Given the description of an element on the screen output the (x, y) to click on. 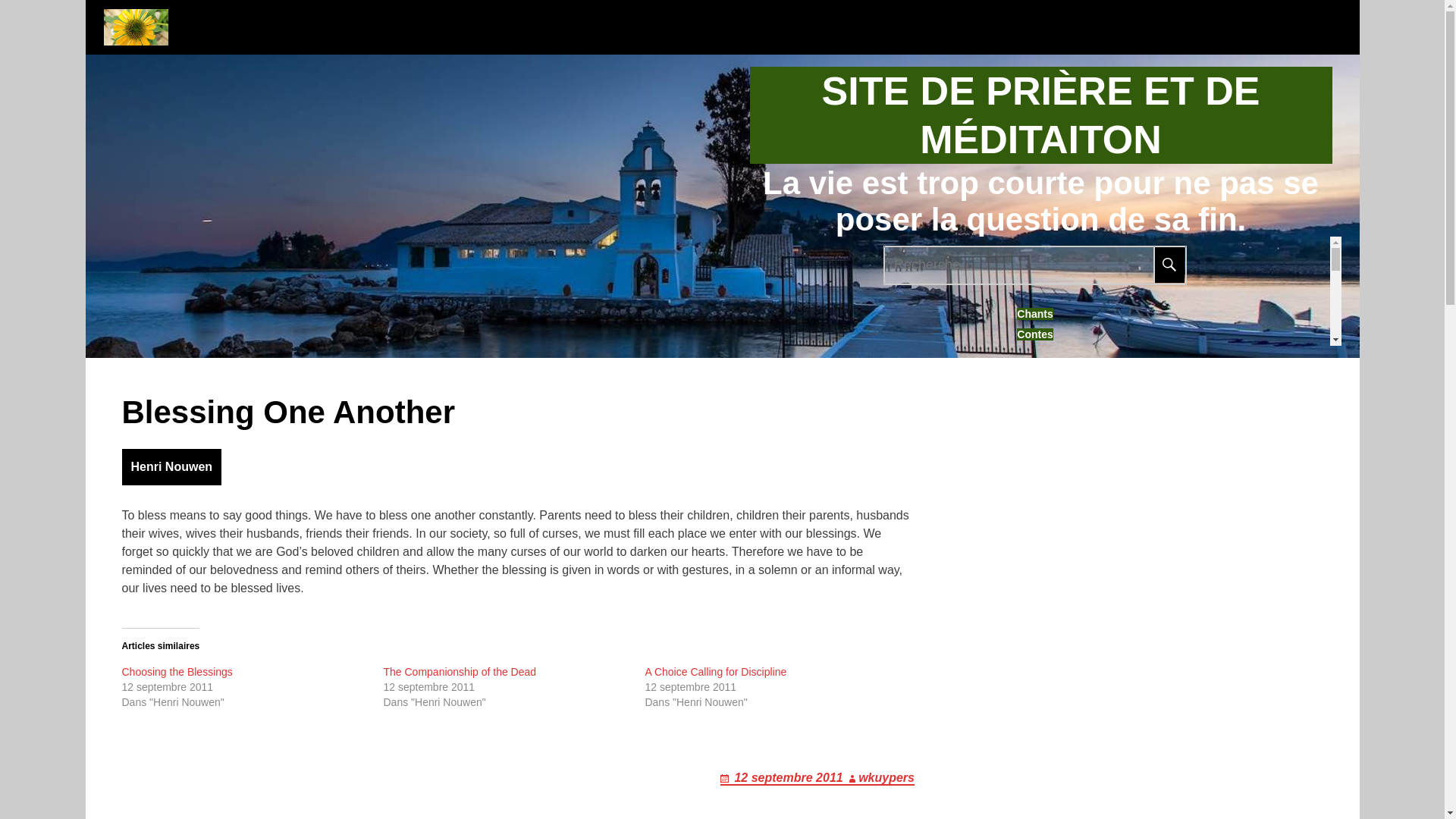
A Choice Calling for Discipline (715, 671)
Contes (1034, 334)
Les Carnets (1034, 417)
mars 2024 (1035, 745)
Maximes (1034, 439)
Le bruit (1034, 623)
Textes de Dietrich Bonhoeffer (1034, 664)
janvier 2024 (1034, 766)
Choosing the Blessings (175, 671)
Jean Vanier (1035, 397)
